Given the description of an element on the screen output the (x, y) to click on. 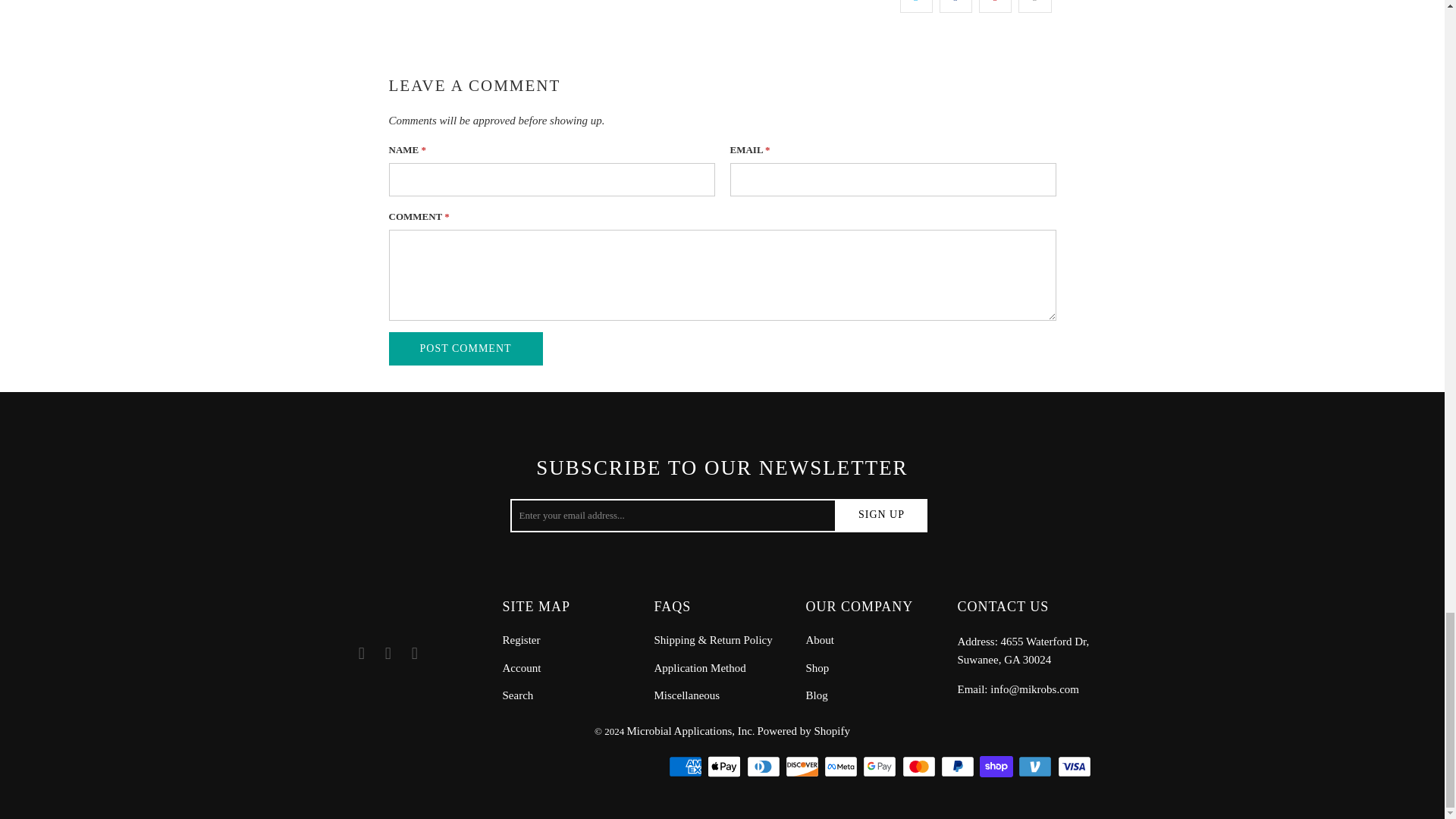
Share this on Pinterest (994, 6)
Sign Up (880, 515)
Share this on Facebook (955, 6)
Email this to a friend (1034, 6)
Post comment (464, 348)
Apple Pay (725, 766)
PayPal (958, 766)
Google Pay (881, 766)
Microbial Applications, Inc on Instagram (414, 653)
American Express (686, 766)
Diners Club (764, 766)
Microbial Applications, Inc on Facebook (361, 653)
Microbial Applications, Inc on YouTube (387, 653)
Discover (804, 766)
Share this on Twitter (916, 6)
